Given the description of an element on the screen output the (x, y) to click on. 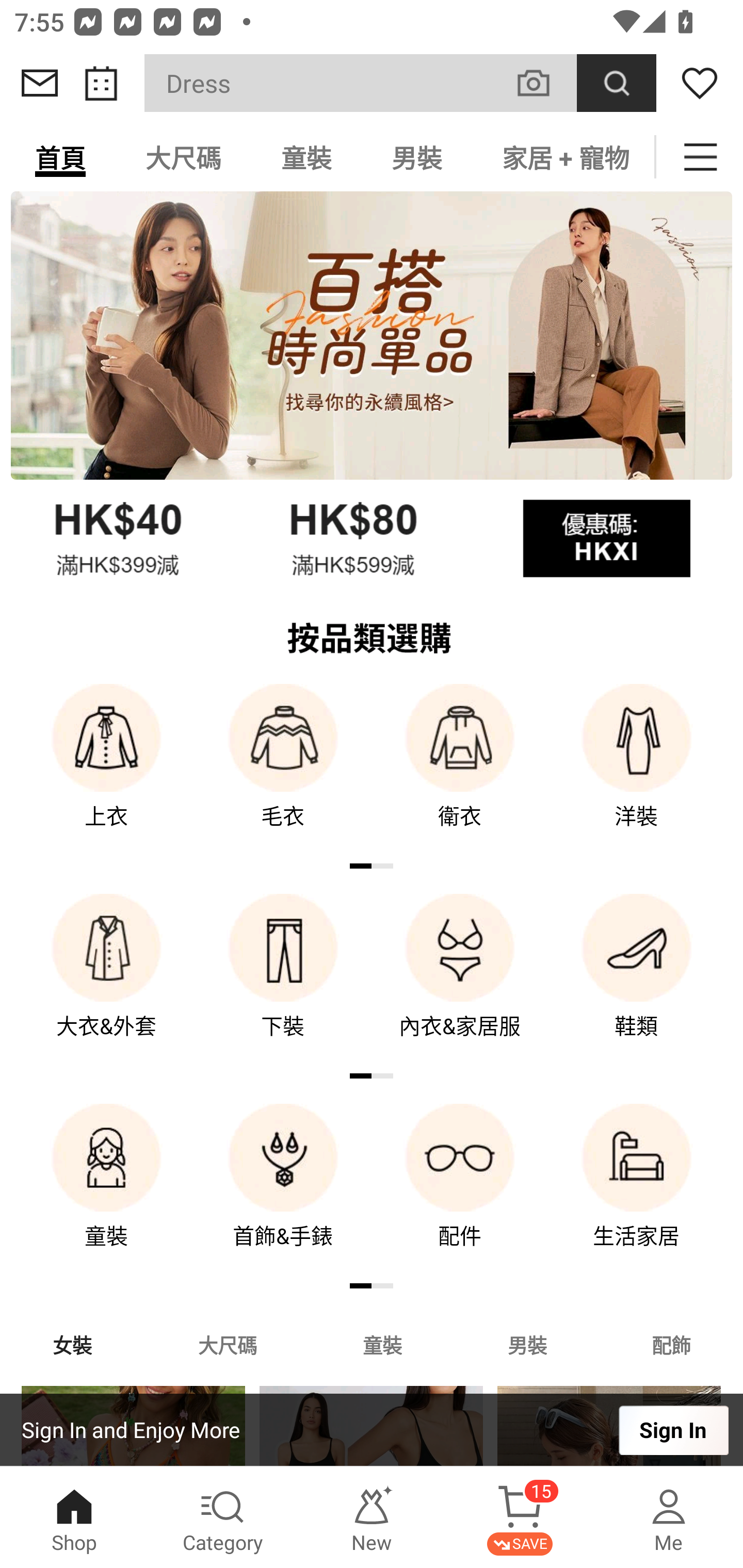
Wishlist (699, 82)
VISUAL SEARCH (543, 82)
首頁 (60, 156)
大尺碼 (183, 156)
童裝 (306, 156)
男裝 (416, 156)
家居 + 寵物 (563, 156)
上衣 (105, 769)
毛衣 (282, 769)
衛衣 (459, 769)
洋裝 (636, 769)
大衣&外套 (105, 979)
下裝 (282, 979)
內衣&家居服 (459, 979)
鞋類 (636, 979)
童裝 (105, 1189)
首飾&手錶 (282, 1189)
配件 (459, 1189)
生活家居 (636, 1189)
女裝 (72, 1344)
大尺碼 (226, 1344)
童裝 (381, 1344)
男裝 (527, 1344)
配飾 (671, 1344)
Sign In and Enjoy More Sign In (371, 1429)
Category (222, 1517)
New (371, 1517)
Cart 15 SAVE (519, 1517)
Me (668, 1517)
